Given the description of an element on the screen output the (x, y) to click on. 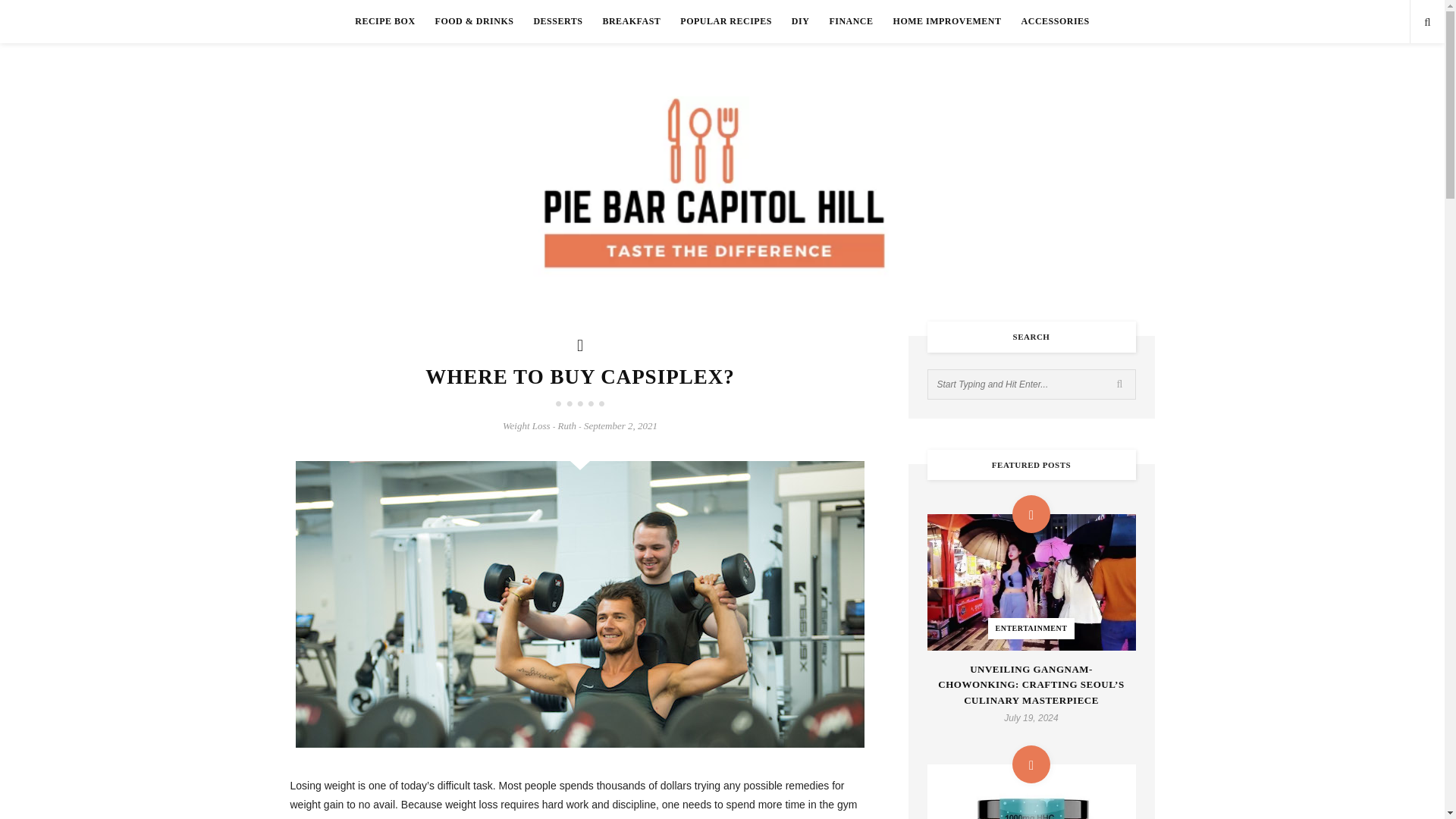
ACCESSORIES (1055, 21)
Permanent Link: Exploring The Potential Of HHC Gummies (1030, 791)
RECIPE BOX (385, 21)
POPULAR RECIPES (725, 21)
DESSERTS (557, 21)
HOME IMPROVEMENT (947, 21)
ENTERTAINMENT (1030, 582)
Weight Loss (526, 425)
BREAKFAST (630, 21)
FINANCE (850, 21)
